Given the description of an element on the screen output the (x, y) to click on. 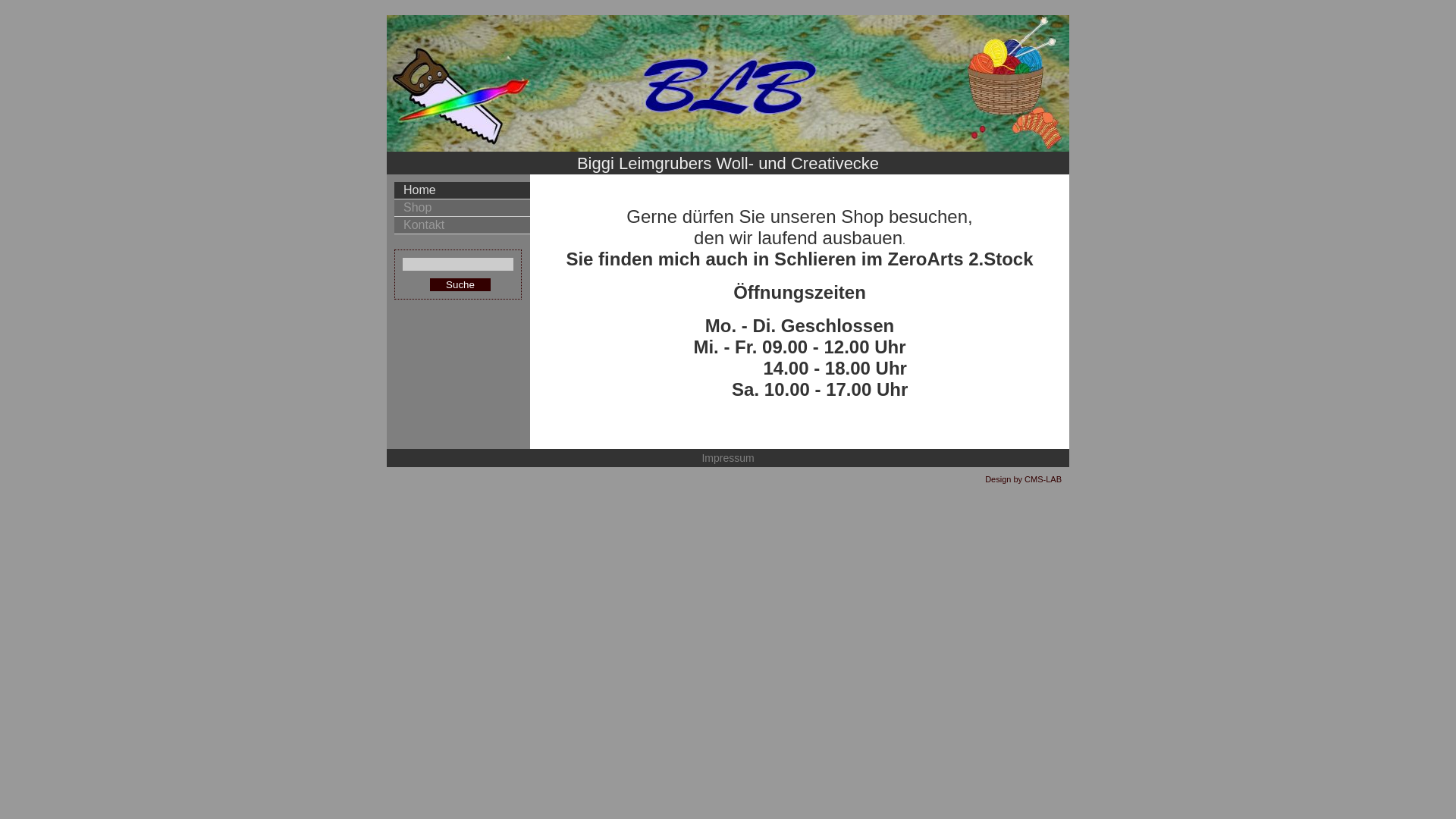
Kontakt Element type: text (462, 225)
Impressum Element type: text (727, 457)
Suche Element type: text (459, 284)
Shop Element type: text (462, 207)
Home Element type: text (462, 190)
Design by CMS-LAB Element type: text (1023, 478)
